Given the description of an element on the screen output the (x, y) to click on. 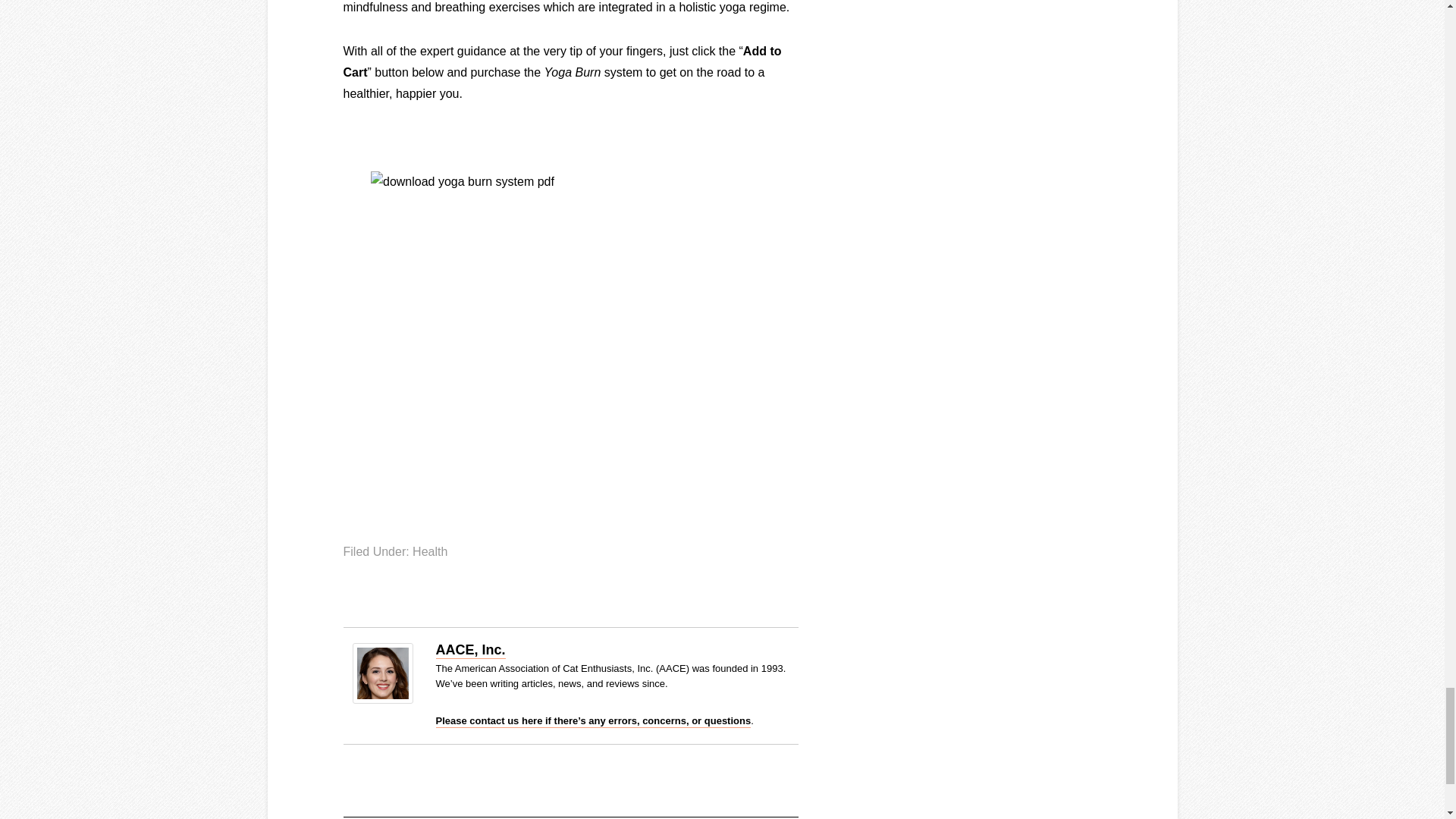
Health (429, 551)
AACE, Inc. (470, 650)
AACE, Inc. (382, 699)
